Given the description of an element on the screen output the (x, y) to click on. 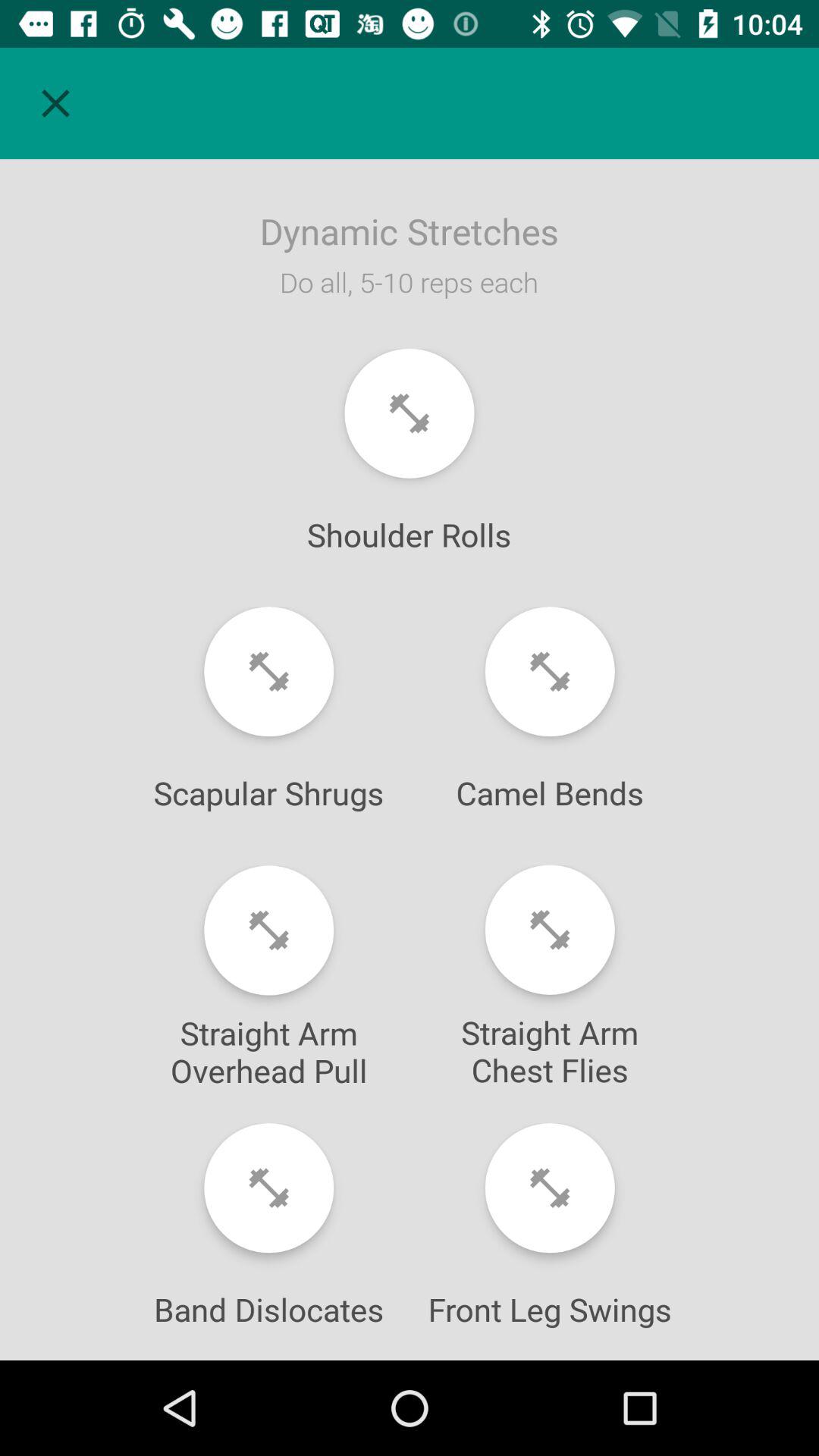
click the icon at the top left corner (55, 103)
